Given the description of an element on the screen output the (x, y) to click on. 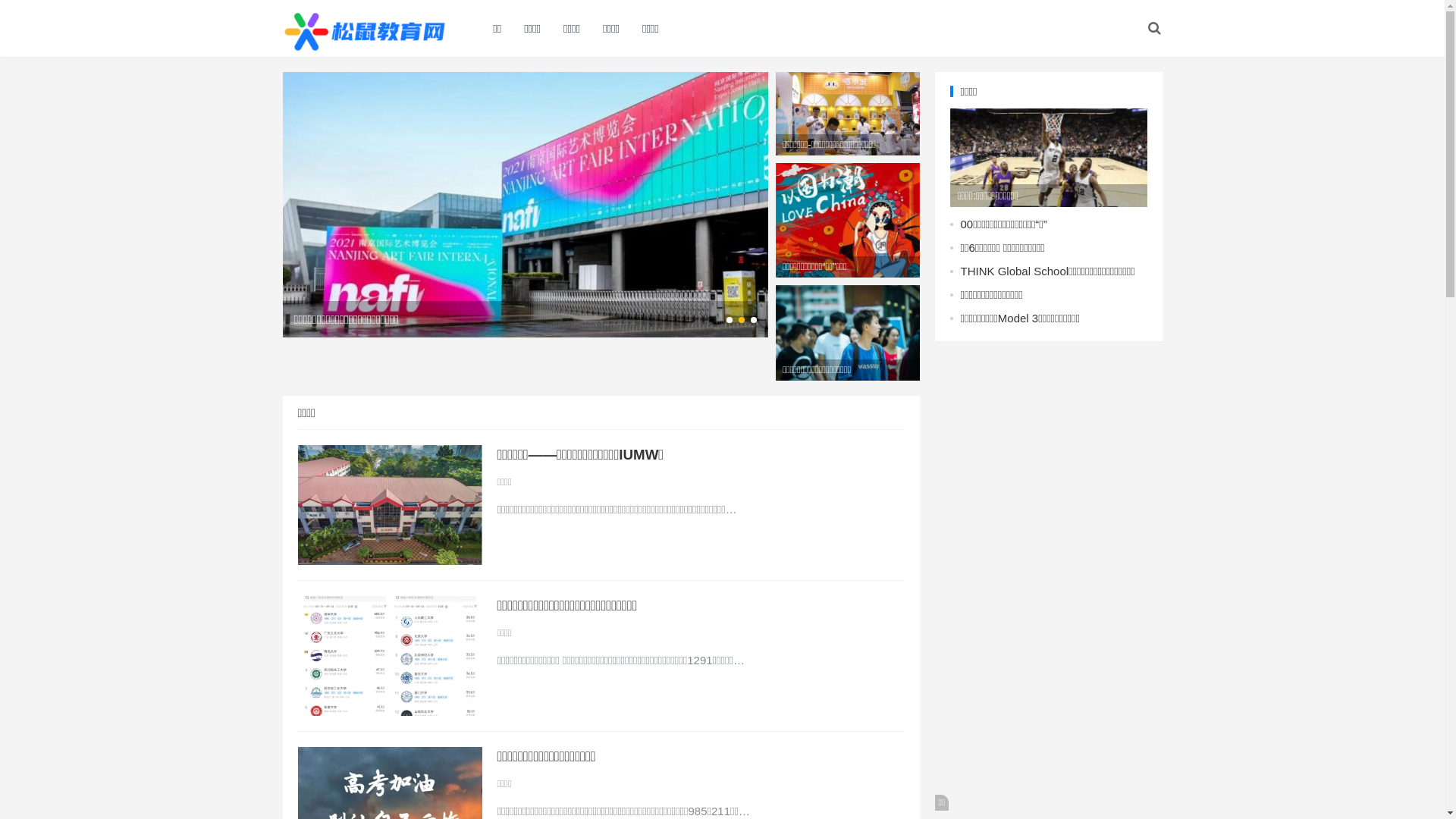
Advertisement Element type: hover (1047, 583)
3 Element type: text (753, 319)
2 Element type: text (741, 319)
1 Element type: text (729, 319)
